Given the description of an element on the screen output the (x, y) to click on. 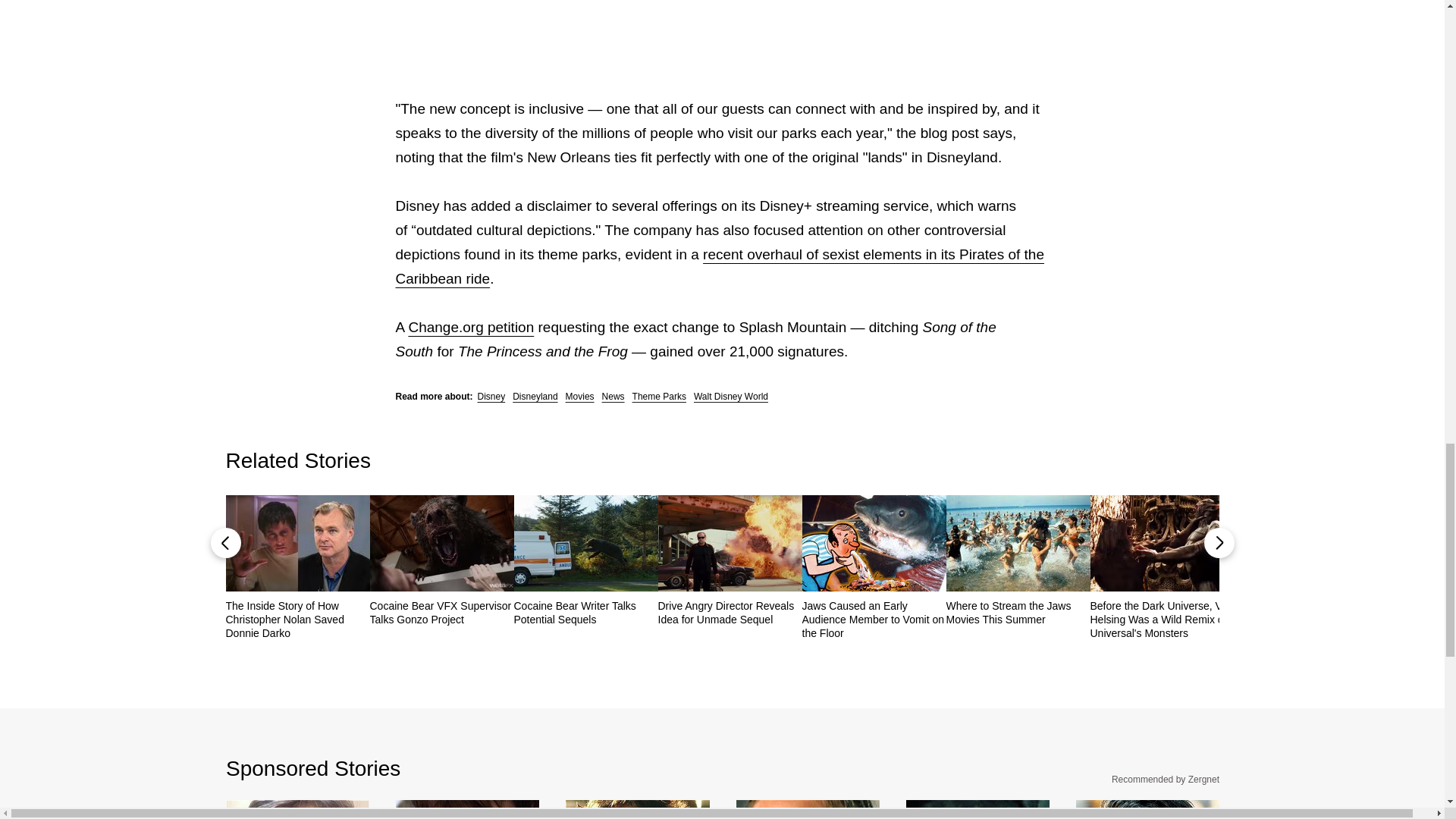
Disney (491, 396)
Change.org petition (470, 326)
JUNE 25, 2020 (720, 26)
Theme Parks (658, 396)
News (613, 396)
Disneyland (534, 396)
Movies (580, 396)
Walt Disney World (731, 396)
